Given the description of an element on the screen output the (x, y) to click on. 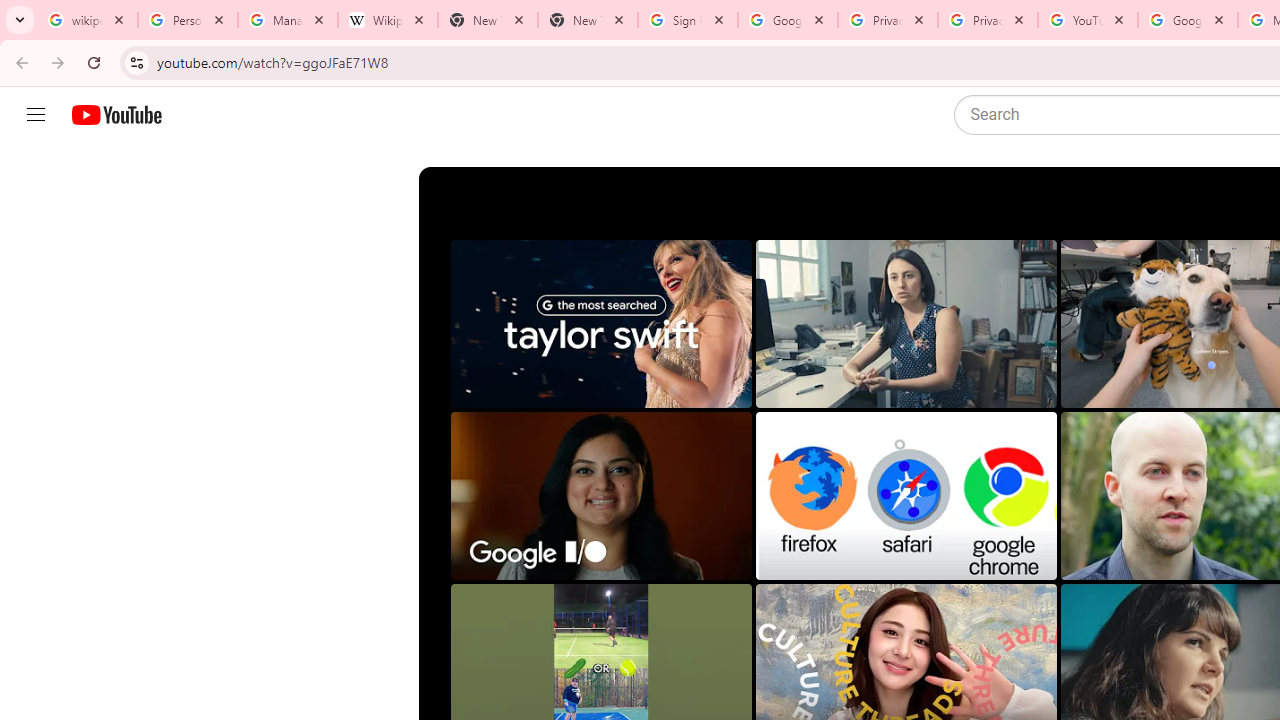
Guide (35, 115)
Manage your Location History - Google Search Help (287, 20)
YouTube Home (116, 115)
